Given the description of an element on the screen output the (x, y) to click on. 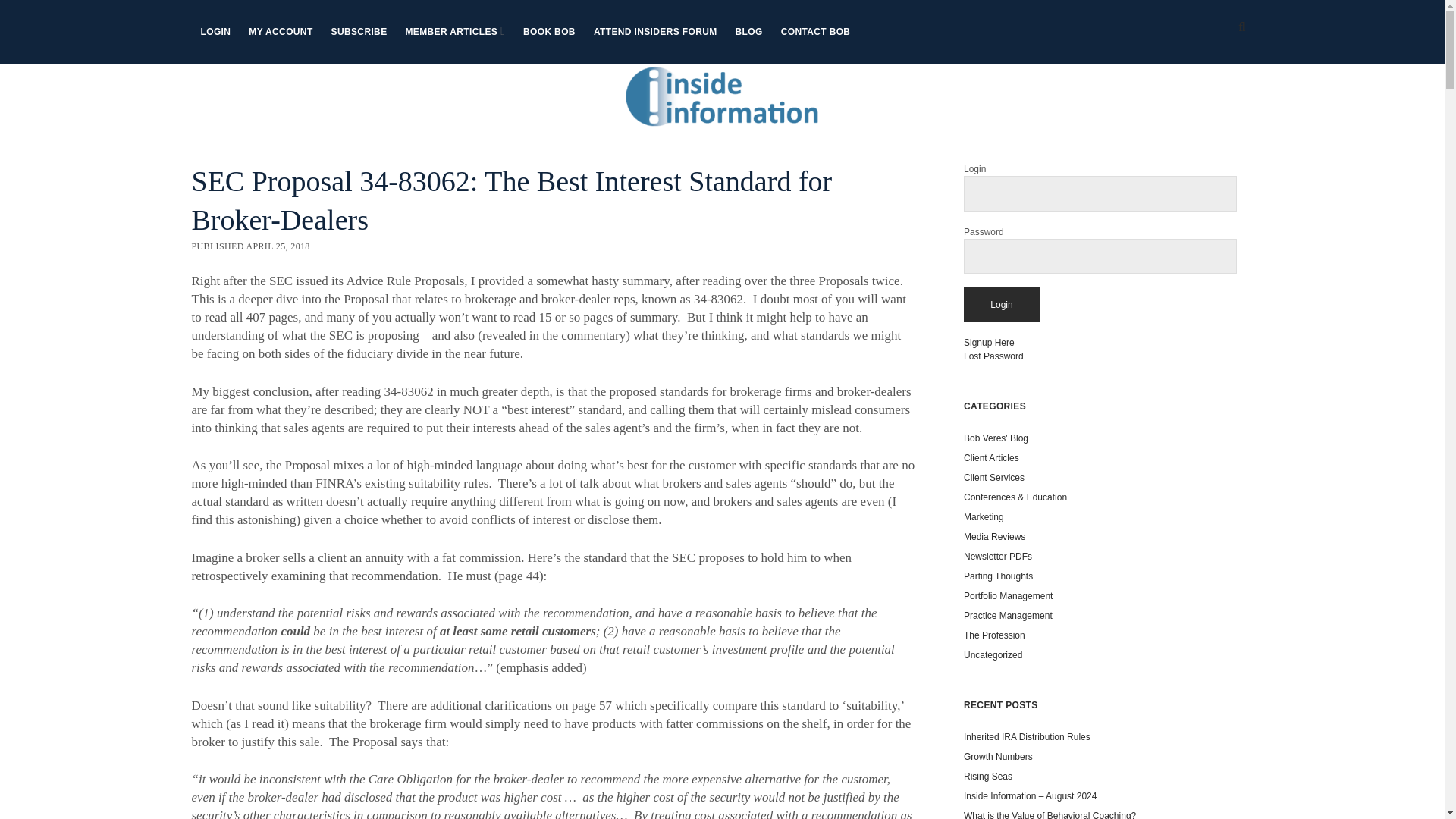
MY ACCOUNT (280, 31)
Portfolio Management (1007, 595)
Bob Veres' Blog (995, 438)
Signup Here (988, 342)
The Profession (994, 634)
Parting Thoughts (997, 575)
open menu (502, 30)
Marketing (983, 516)
Newsletter PDFs (997, 556)
Media Reviews (994, 536)
CONTACT BOB (815, 31)
Practice Management (1007, 615)
Uncategorized (992, 655)
SUBSCRIBE (358, 31)
Lost Password (993, 356)
